Given the description of an element on the screen output the (x, y) to click on. 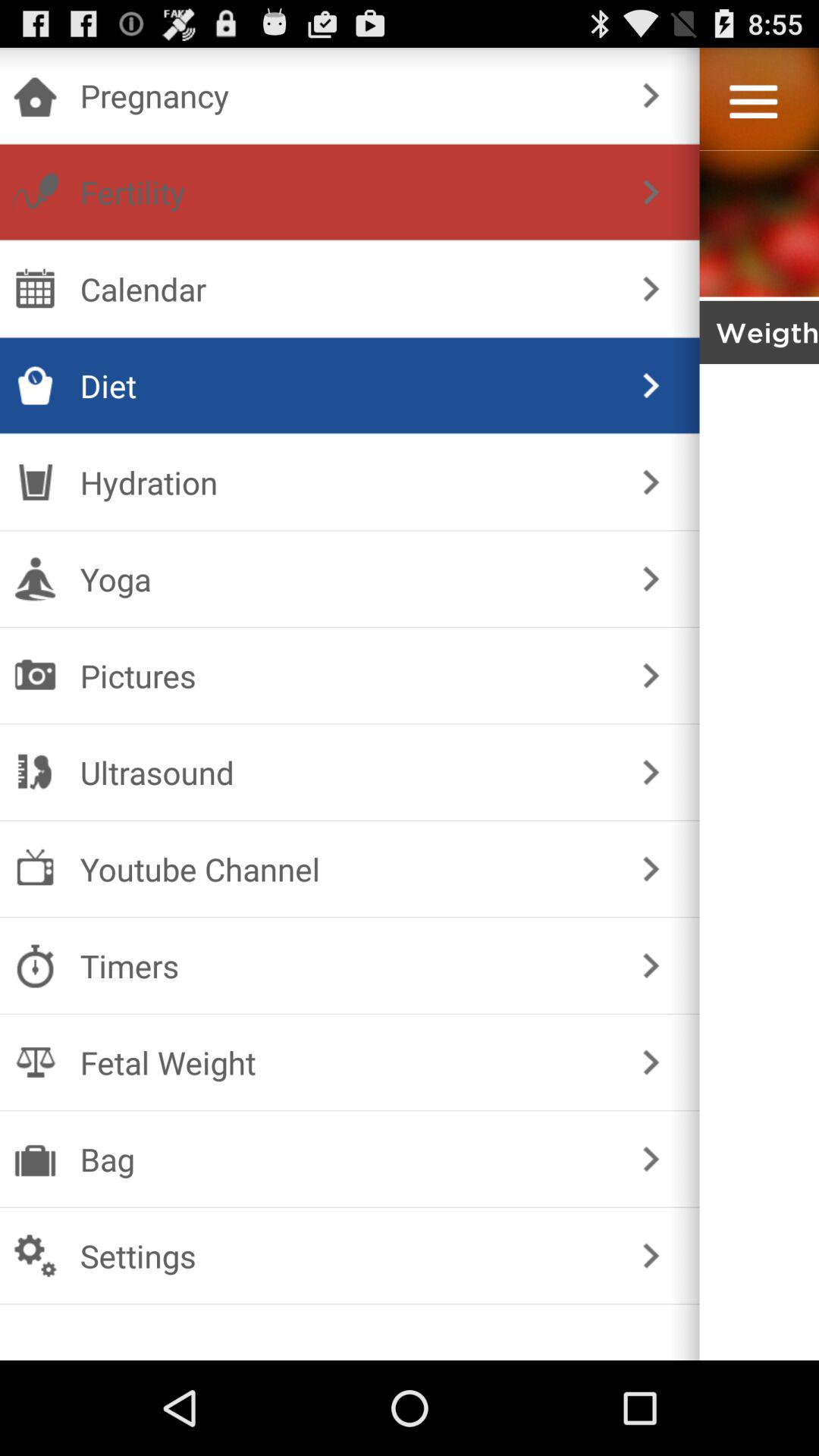
option (753, 101)
